Given the description of an element on the screen output the (x, y) to click on. 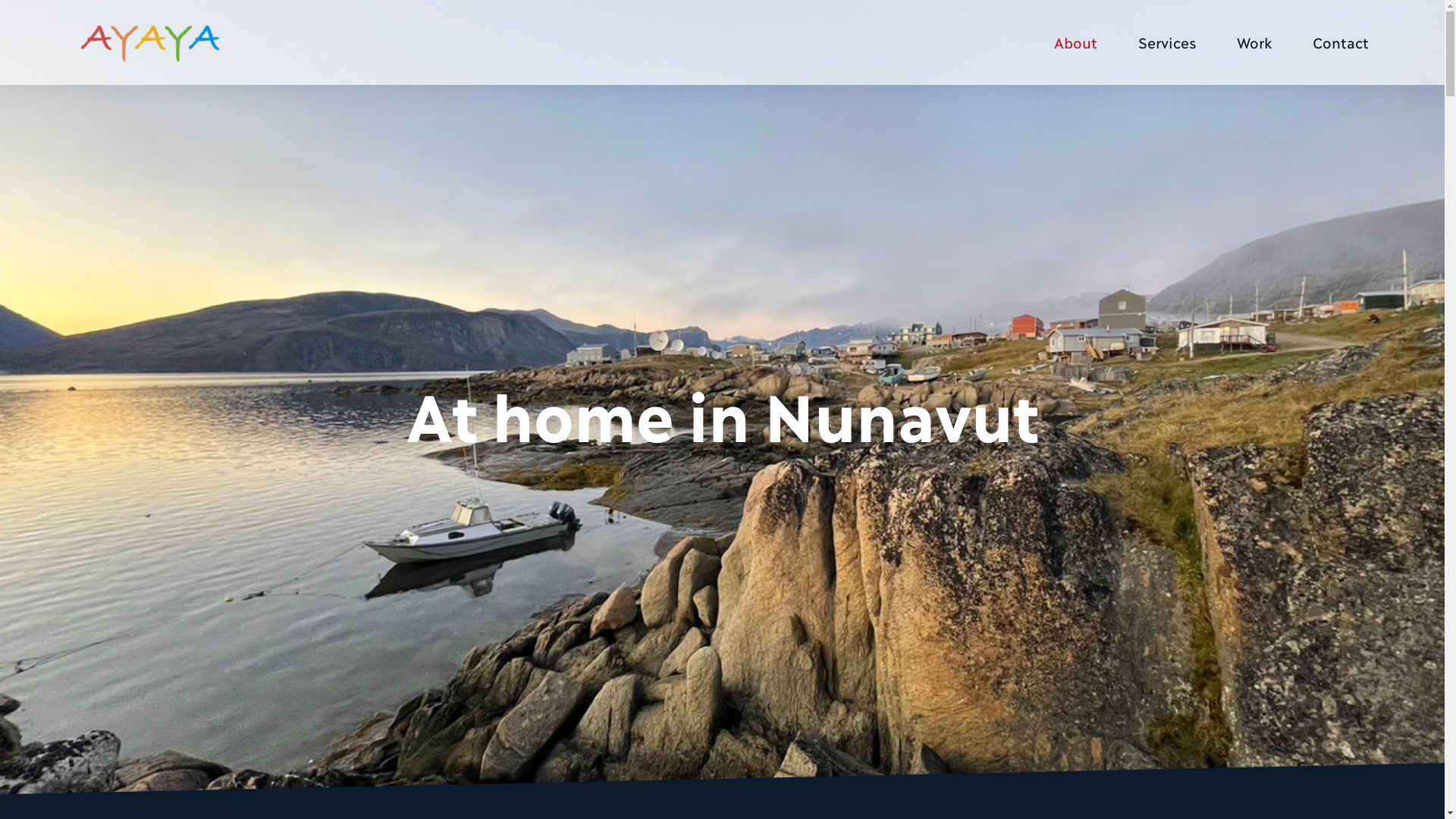
Services Element type: text (1166, 41)
Work Element type: text (1254, 41)
About Element type: text (1075, 41)
Contact Element type: text (1336, 41)
